Given the description of an element on the screen output the (x, y) to click on. 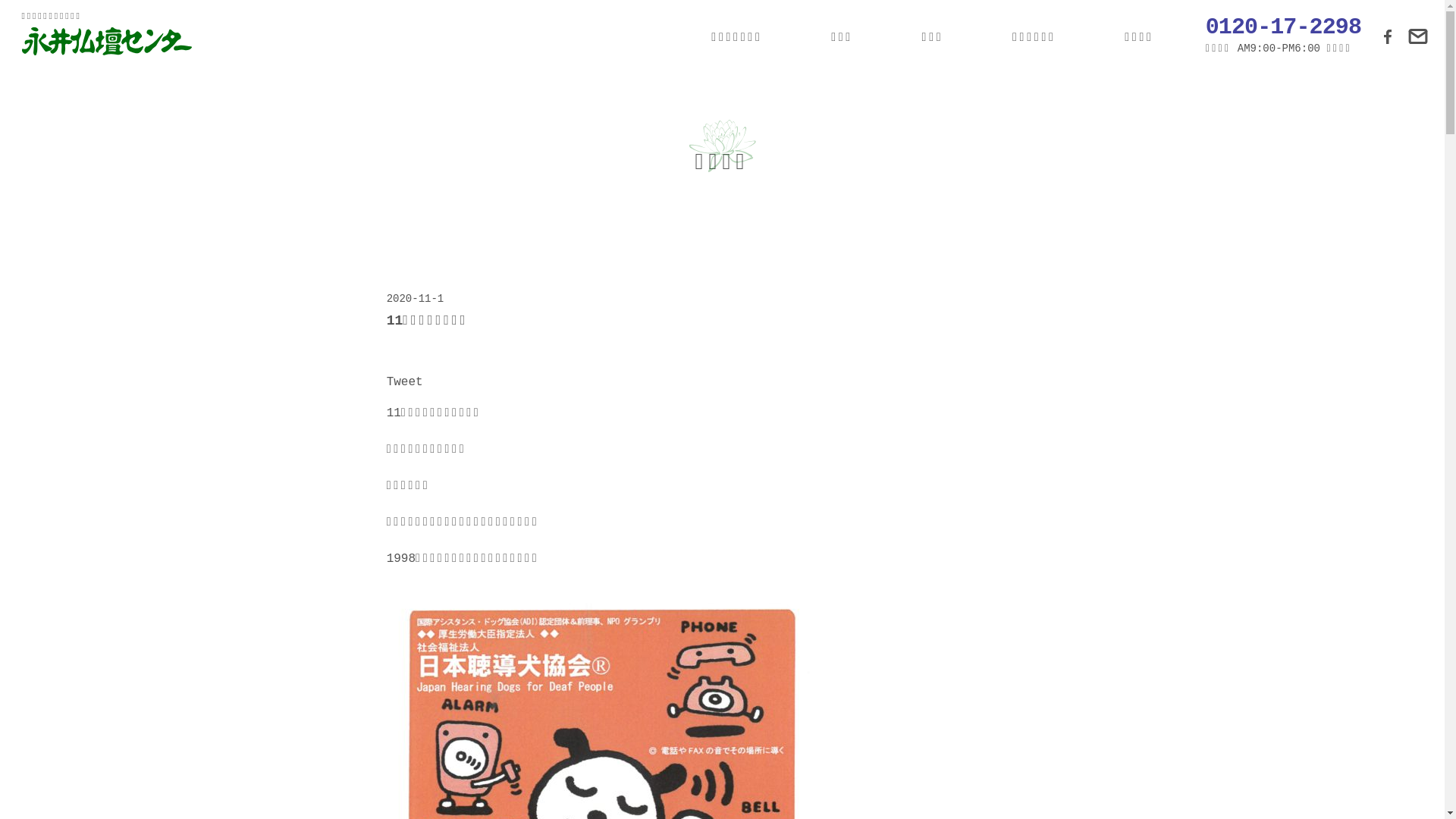
0120-17-2298 Element type: text (1283, 27)
Tweet Element type: text (404, 382)
